Given the description of an element on the screen output the (x, y) to click on. 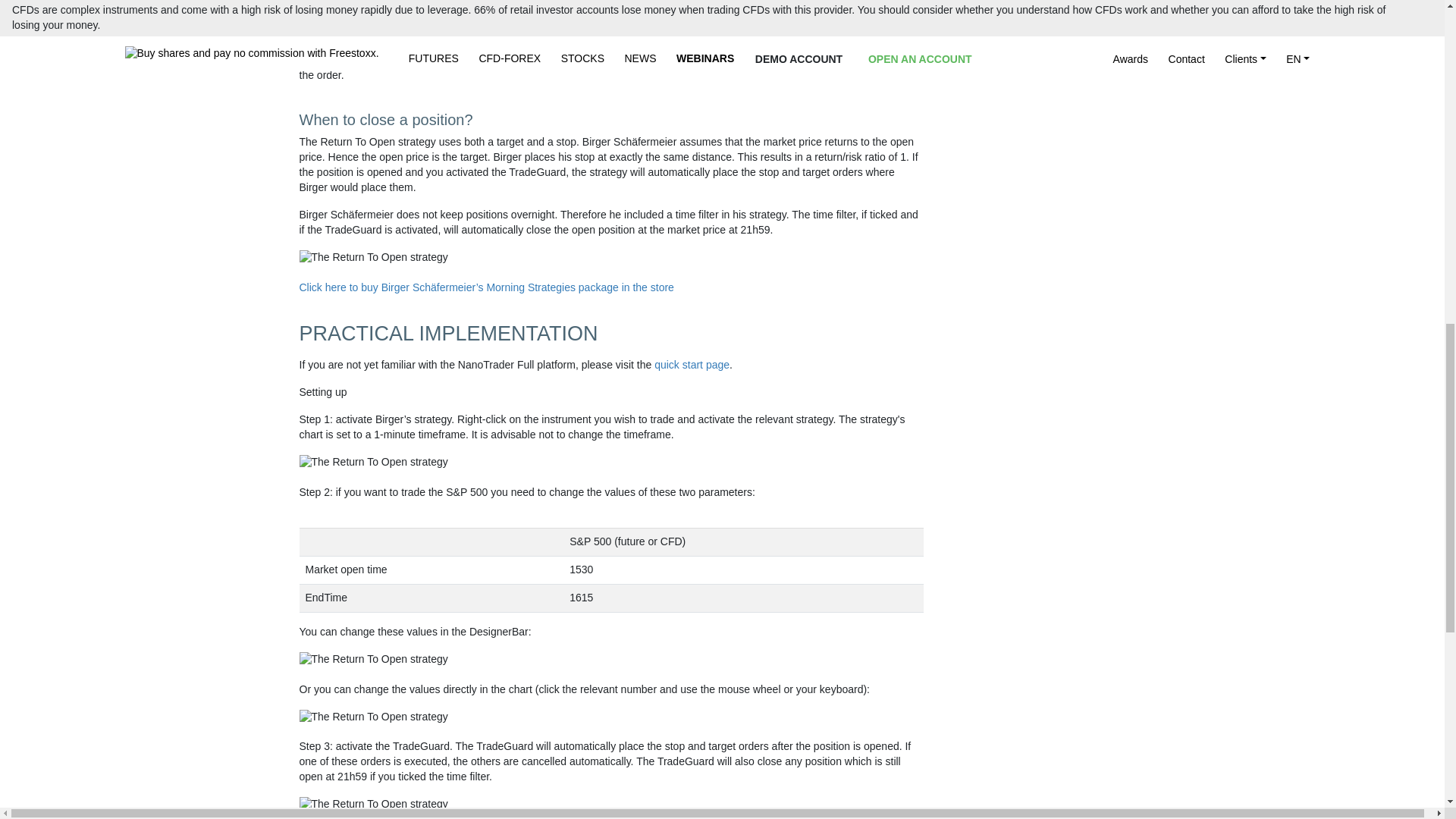
quick start page (691, 364)
